Given the description of an element on the screen output the (x, y) to click on. 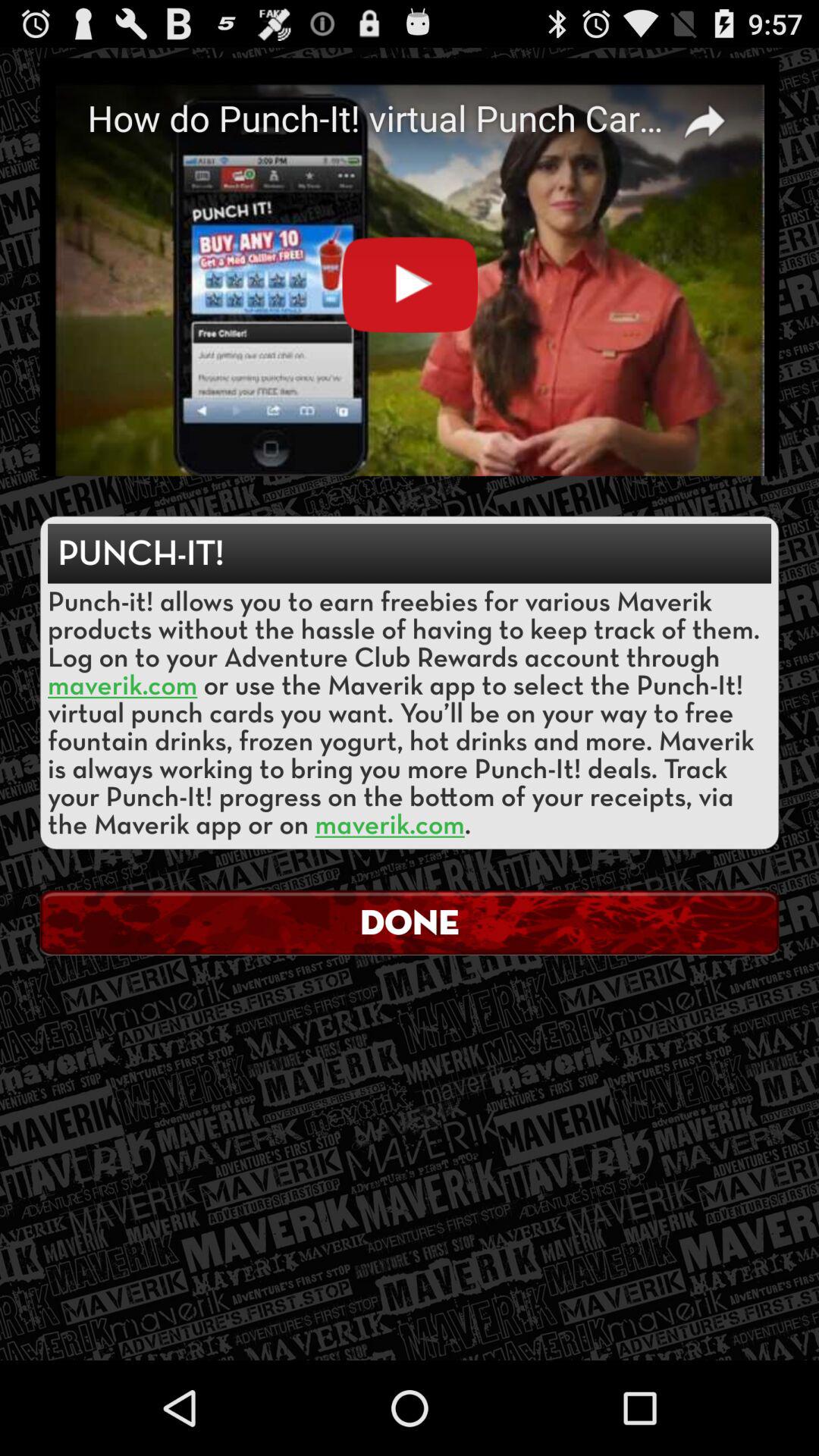
tap the item below punch it allows (409, 922)
